Given the description of an element on the screen output the (x, y) to click on. 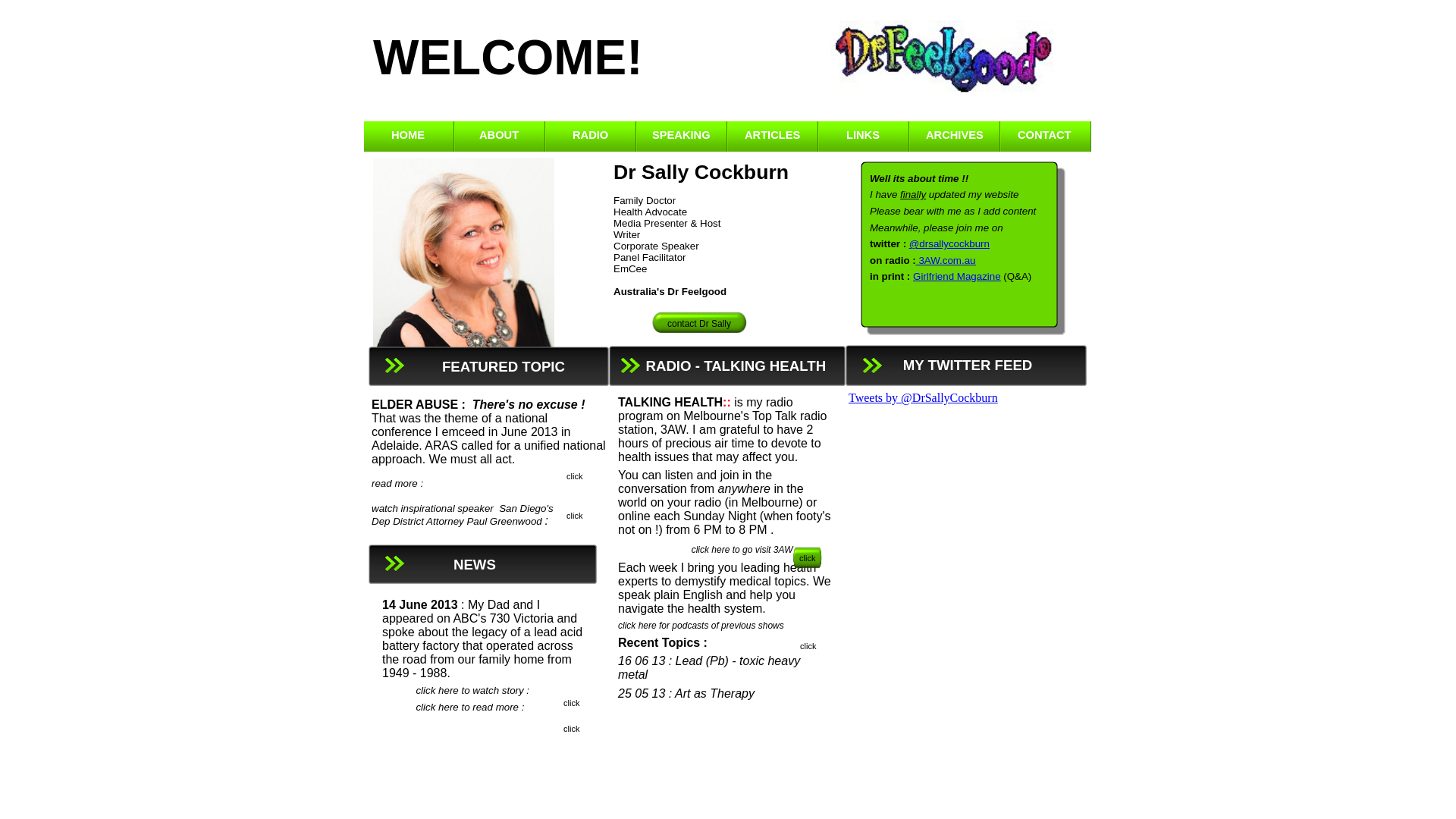
@drsallycockburn Element type: text (949, 242)
3AW.com.au Element type: text (945, 259)
Tweets by @DrSallyCockburn Element type: text (922, 397)
Girlfriend Magazine Element type: text (957, 275)
